Given the description of an element on the screen output the (x, y) to click on. 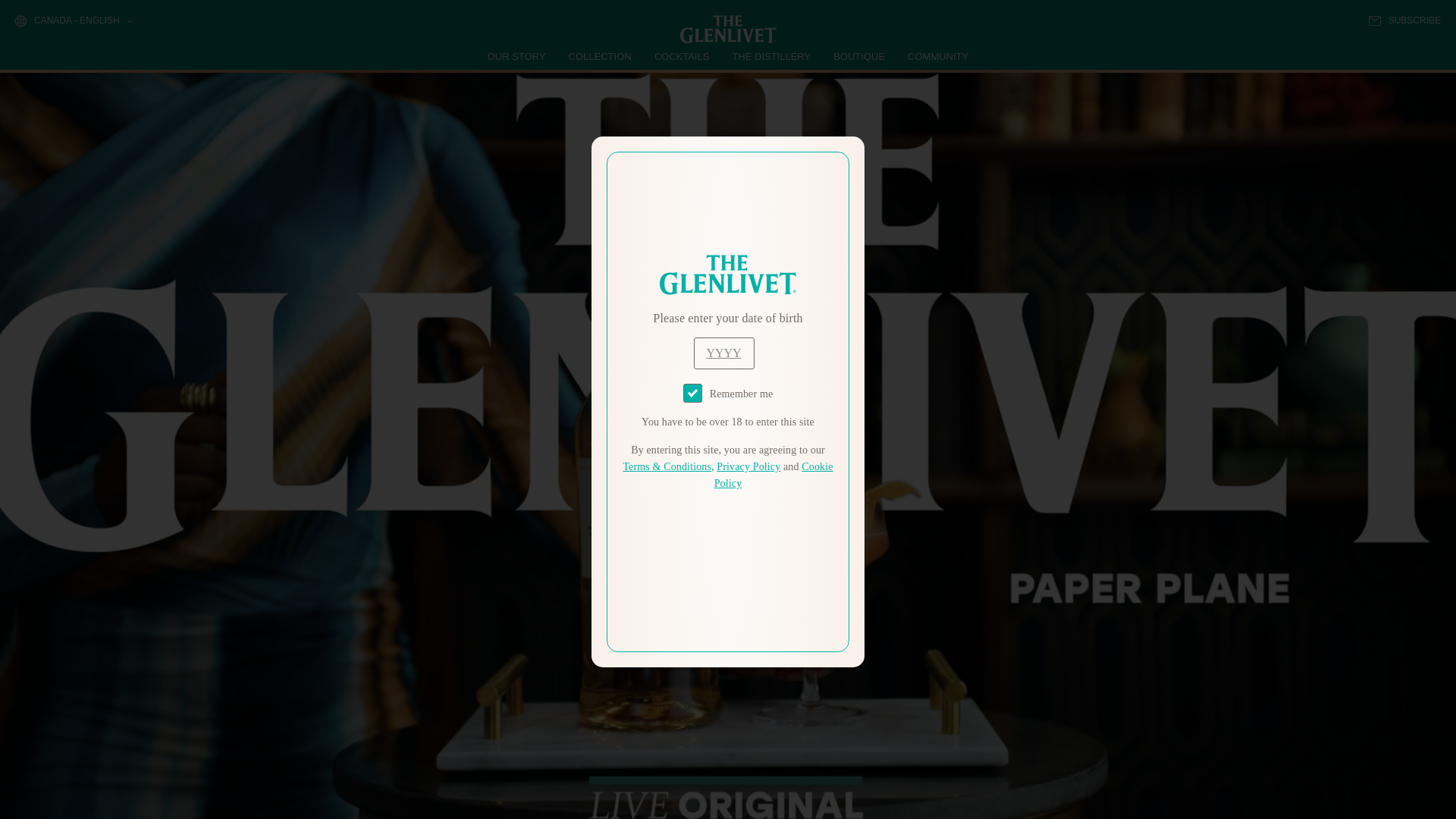
Cookie Policy (773, 474)
THE DISTILLERY (771, 56)
BOUTIQUE (858, 56)
COCKTAILS (681, 56)
SUBSCRIBE (1404, 20)
CANADA - ENGLISH (73, 21)
COMMUNITY (937, 56)
COLLECTION (600, 56)
OUR STORY (516, 56)
Privacy Policy (748, 466)
